Given the description of an element on the screen output the (x, y) to click on. 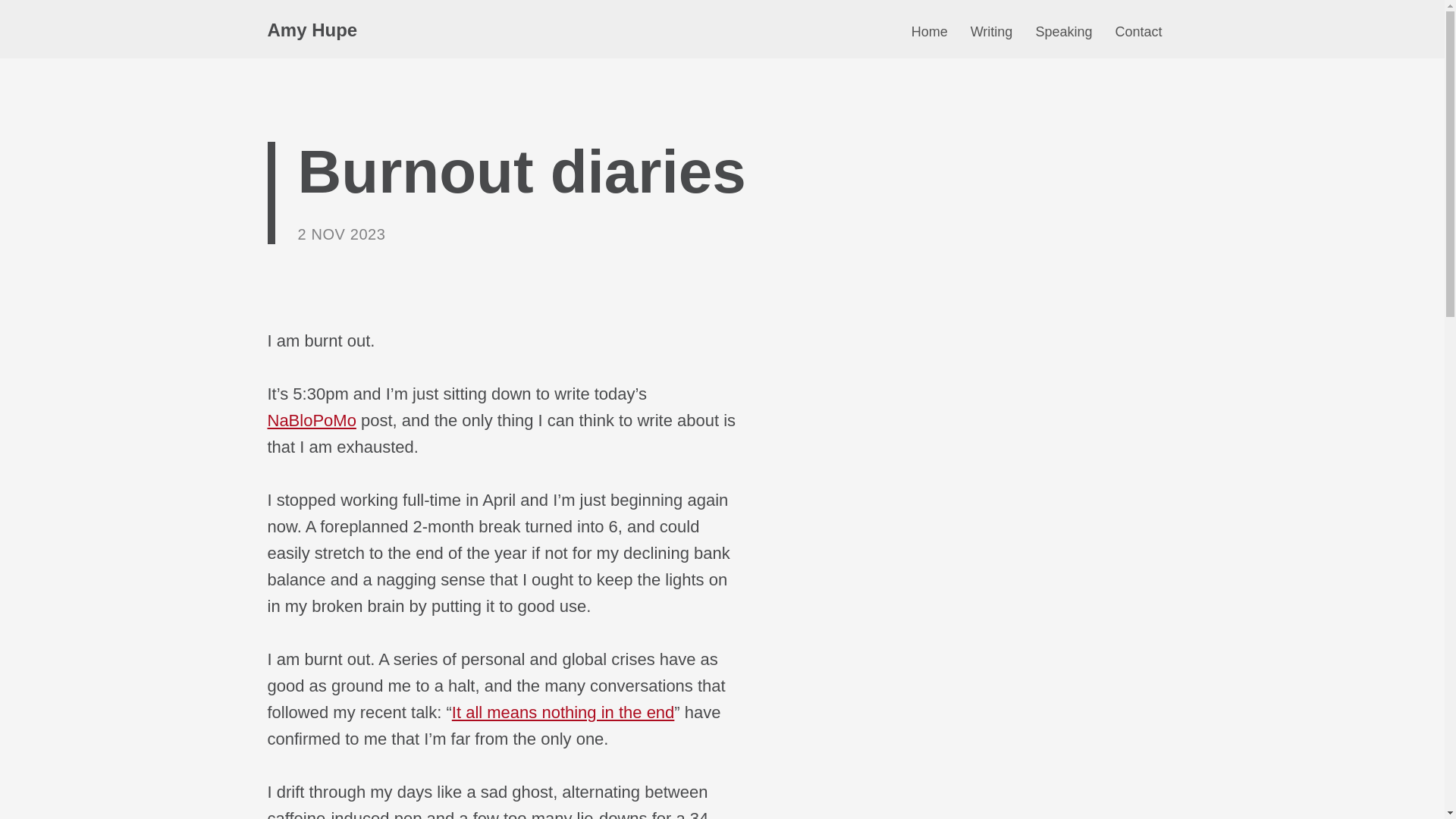
Amy Hupe (311, 29)
It all means nothing in the end (563, 711)
Speaking (1063, 34)
Home (929, 34)
Writing (992, 34)
NaBloPoMo (310, 420)
Contact (1138, 34)
